Given the description of an element on the screen output the (x, y) to click on. 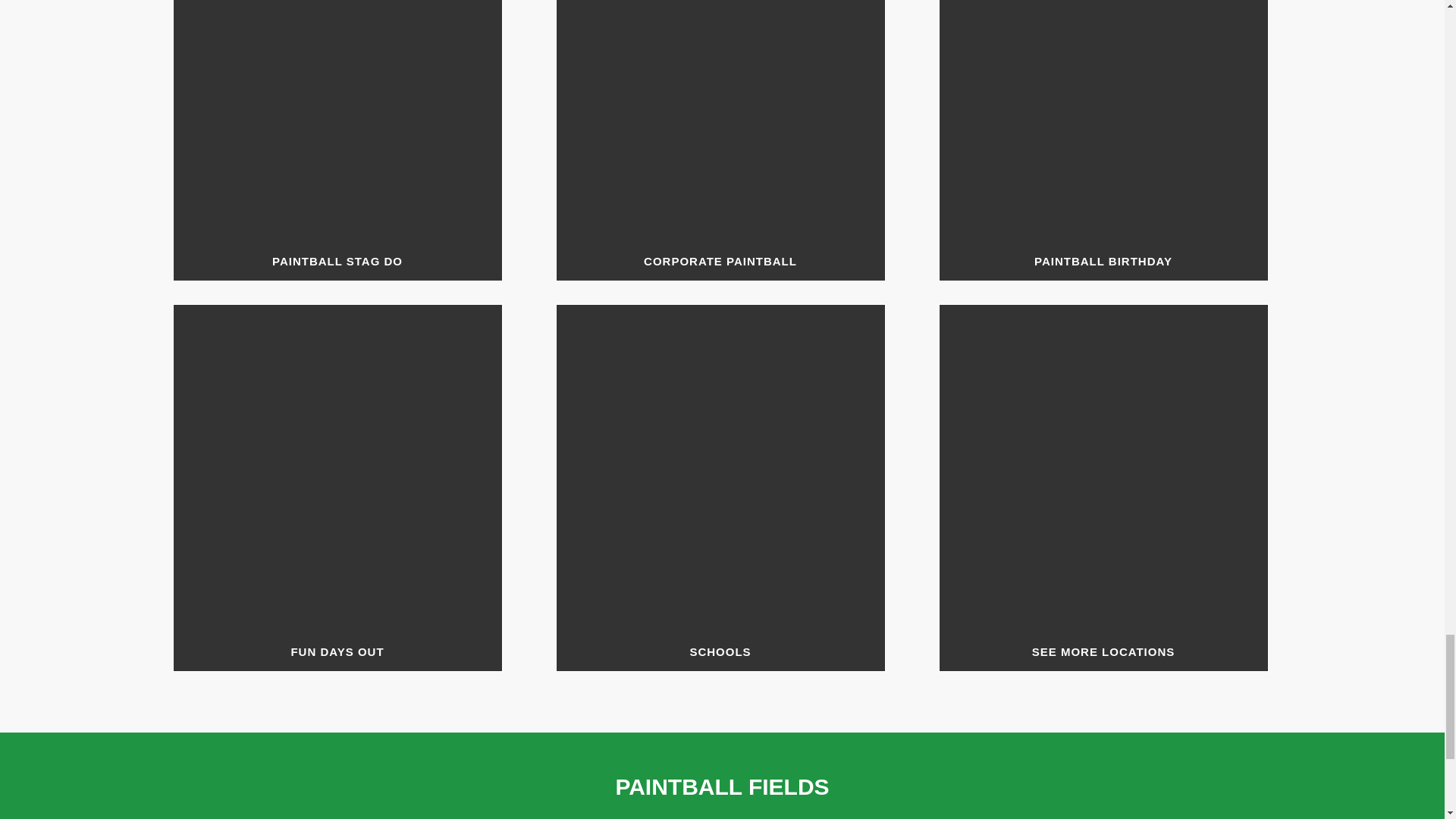
FUN DAYS OUT (336, 487)
PAINTBALL STAG DO (336, 140)
SEE MORE LOCATIONS (1102, 487)
PAINTBALL BIRTHDAY (1102, 140)
SCHOOLS (720, 487)
CORPORATE PAINTBALL (720, 140)
